Given the description of an element on the screen output the (x, y) to click on. 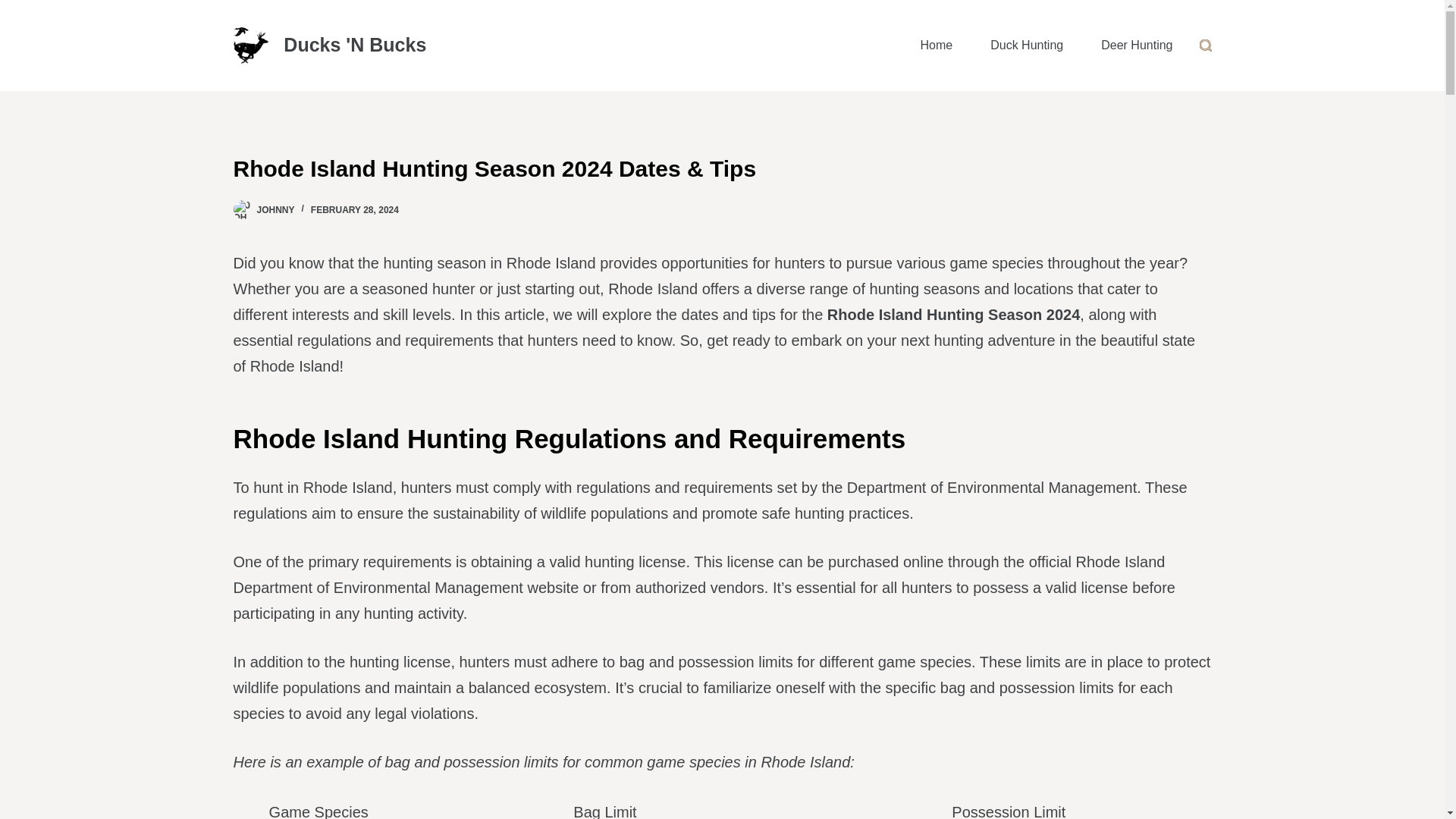
Home (936, 45)
JOHNNY (275, 209)
Deer Hunting (1136, 45)
Ducks 'N Bucks (354, 44)
Posts by Johnny (275, 209)
Duck Hunting (1026, 45)
Skip to content (15, 7)
